Given the description of an element on the screen output the (x, y) to click on. 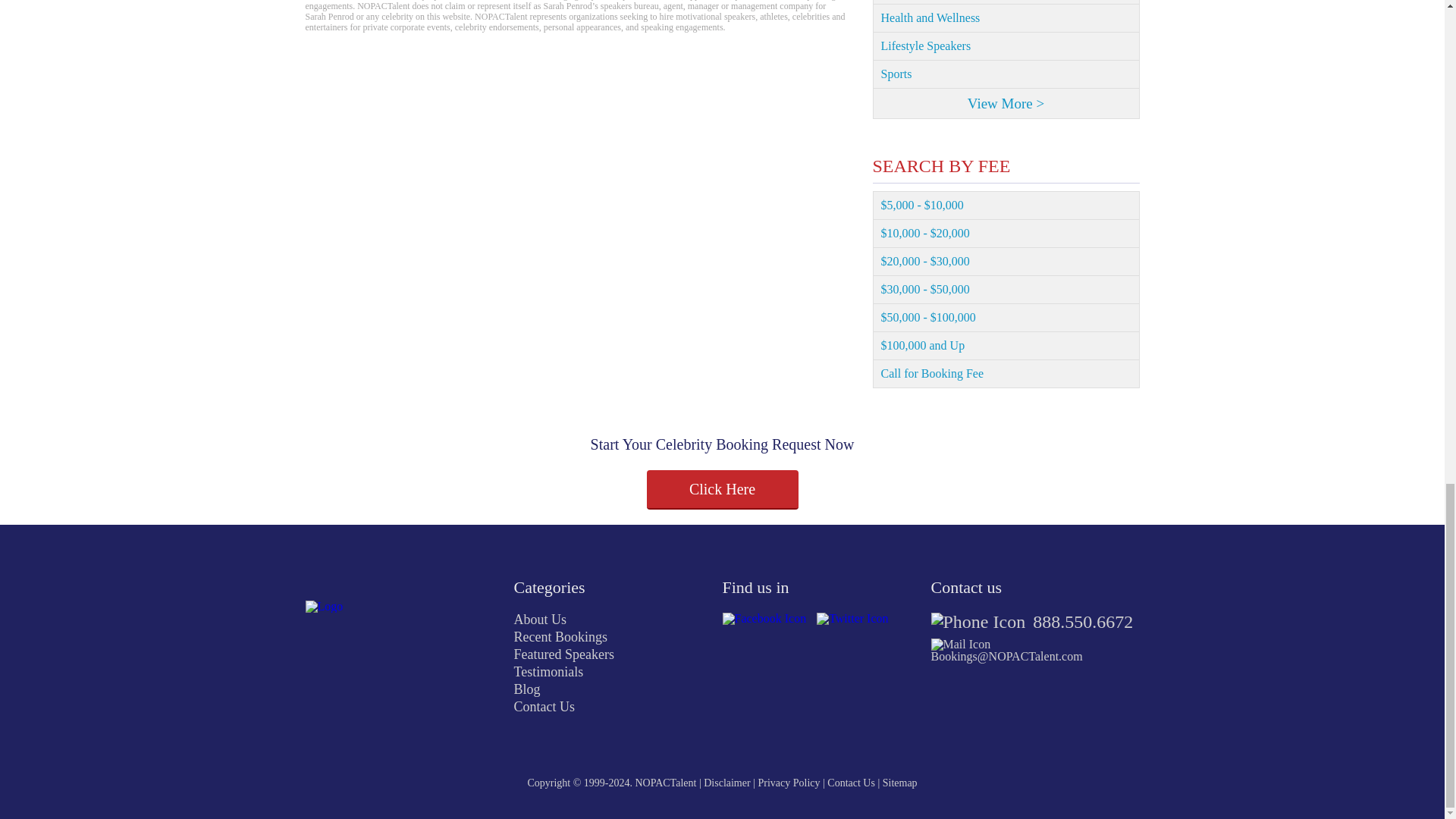
Entertainment (1005, 2)
Sports (1005, 74)
Lifestyle Speakers (1005, 46)
Health and Wellness (1005, 18)
